Given the description of an element on the screen output the (x, y) to click on. 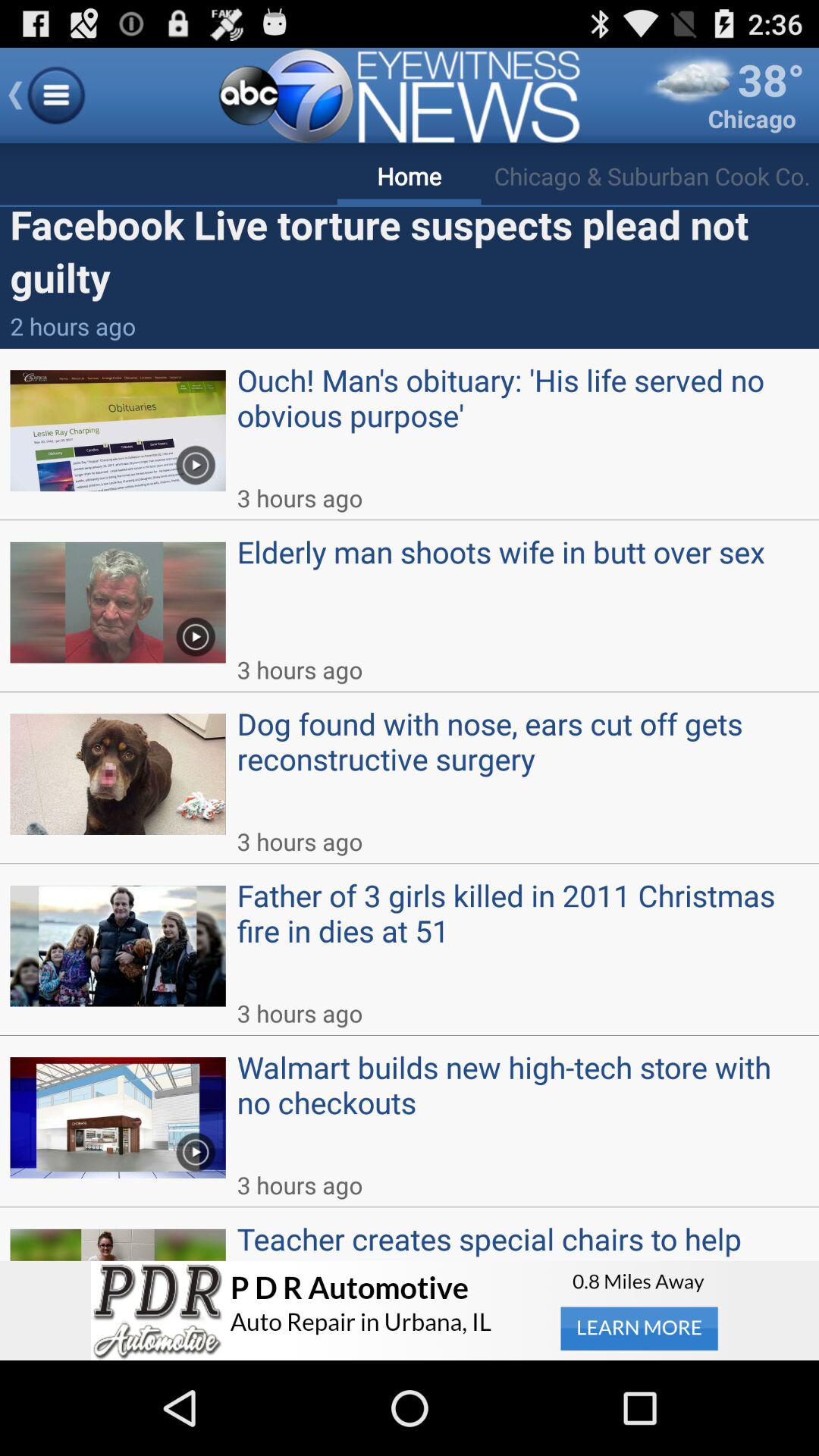
click on the play option to the left of the text elderly man shoots wife in butt over sex (195, 631)
click the play button icon to the left of the text walmart builds new high tech score with no checkouts (195, 1147)
select 38 degrees chicago which is at top right side of the page (724, 95)
